Given the description of an element on the screen output the (x, y) to click on. 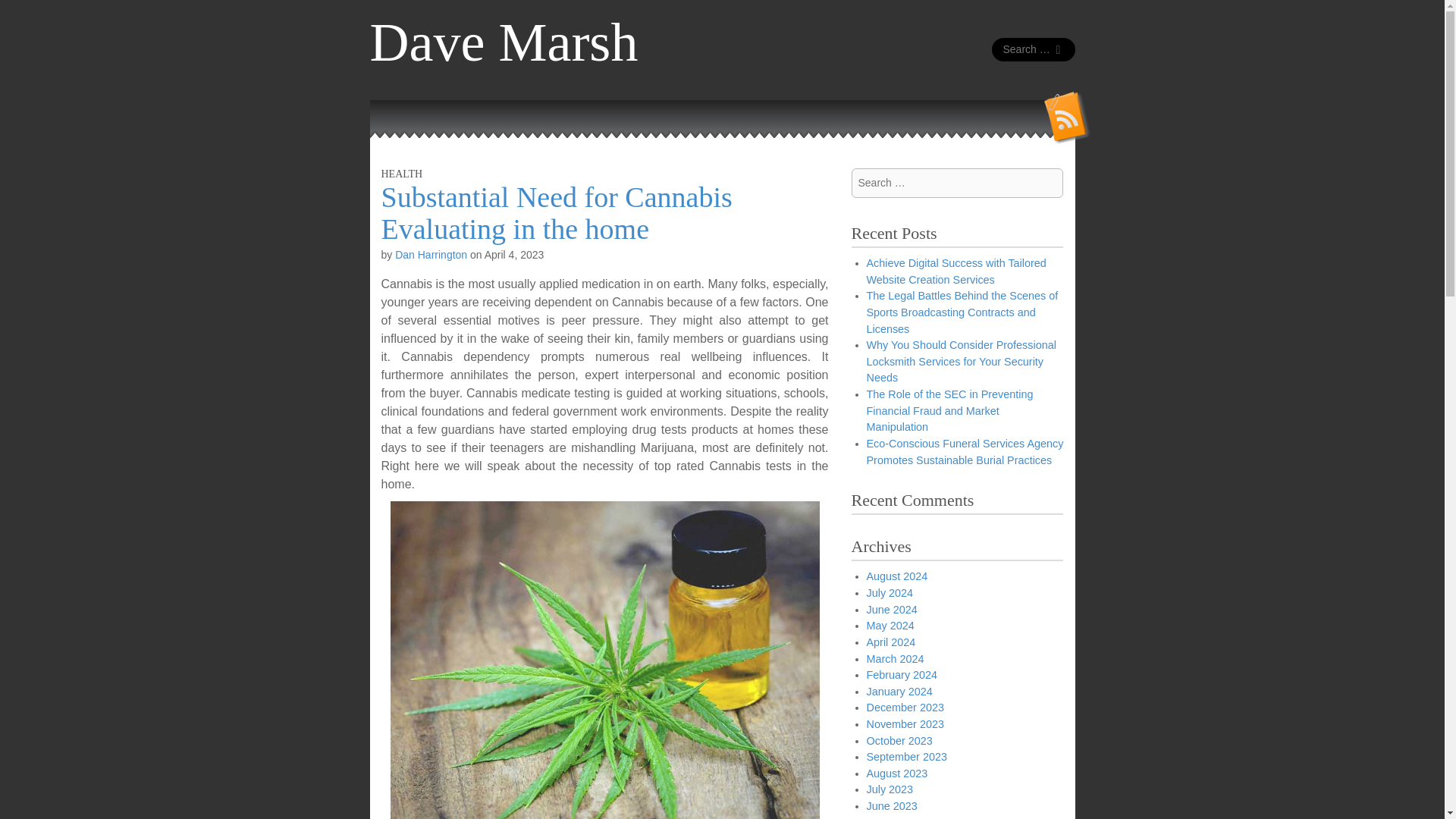
April 4, 2023 (514, 254)
September 2023 (906, 756)
Dan Harrington (430, 254)
June 2024 (891, 609)
October 2023 (898, 740)
March 2024 (894, 658)
HEALTH (401, 173)
December 2023 (904, 707)
July 2024 (889, 592)
May 2024 (890, 625)
May 2023 (890, 817)
